Given the description of an element on the screen output the (x, y) to click on. 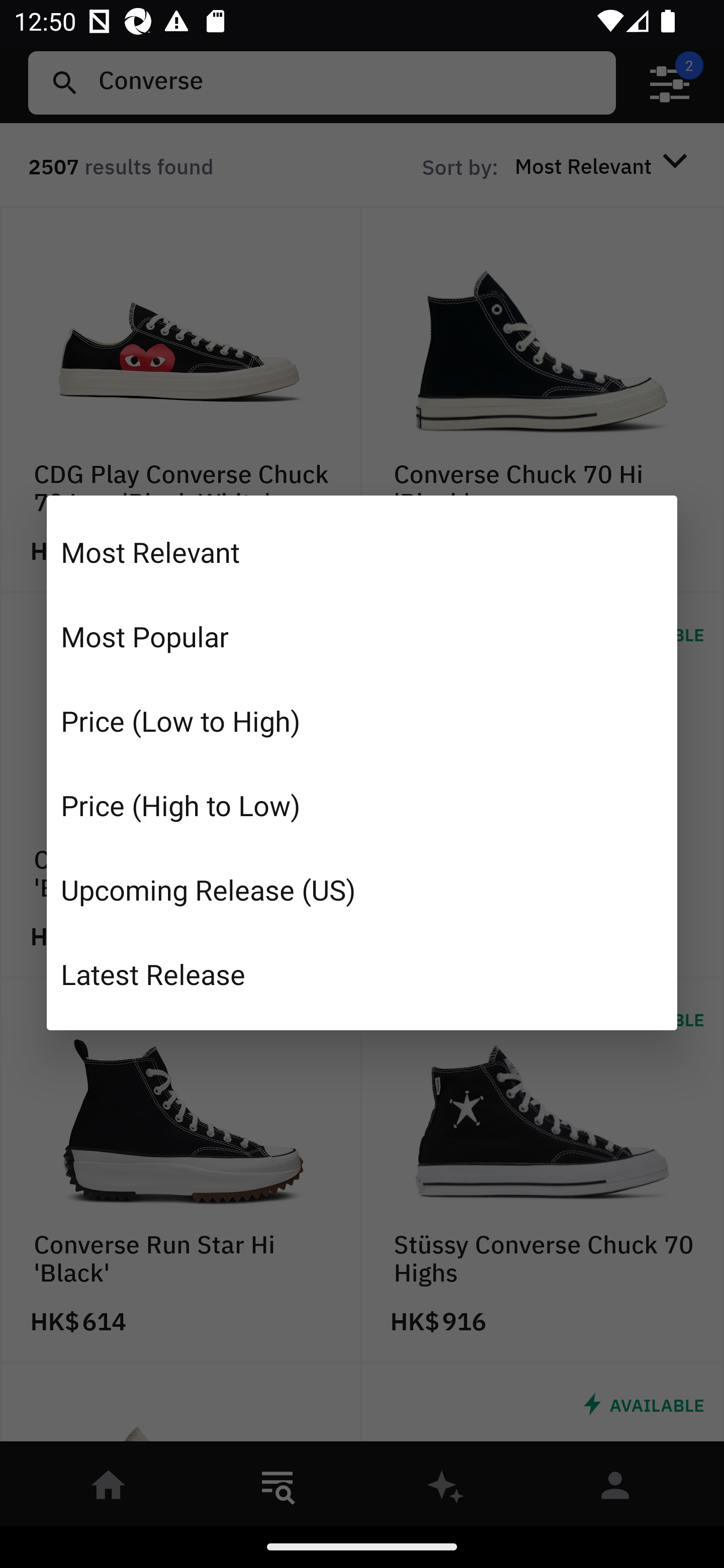
Most Relevant (361, 551)
Most Popular (361, 636)
Price (Low to High) (361, 720)
Price (High to Low) (361, 804)
Upcoming Release (US) (361, 888)
Latest Release (361, 973)
